Given the description of an element on the screen output the (x, y) to click on. 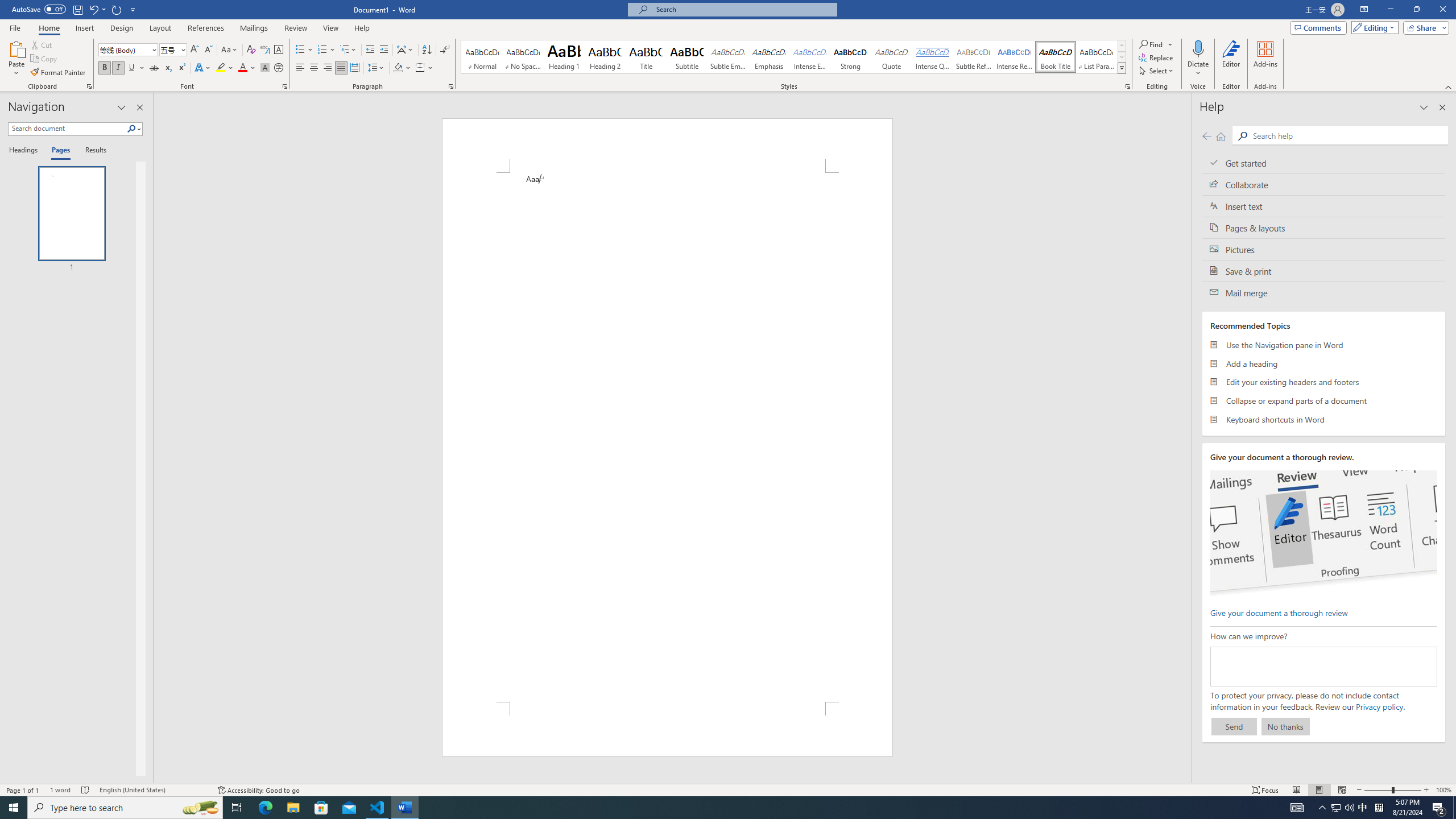
Repeat Style (117, 9)
Send (1233, 726)
Mail merge (1323, 292)
